Given the description of an element on the screen output the (x, y) to click on. 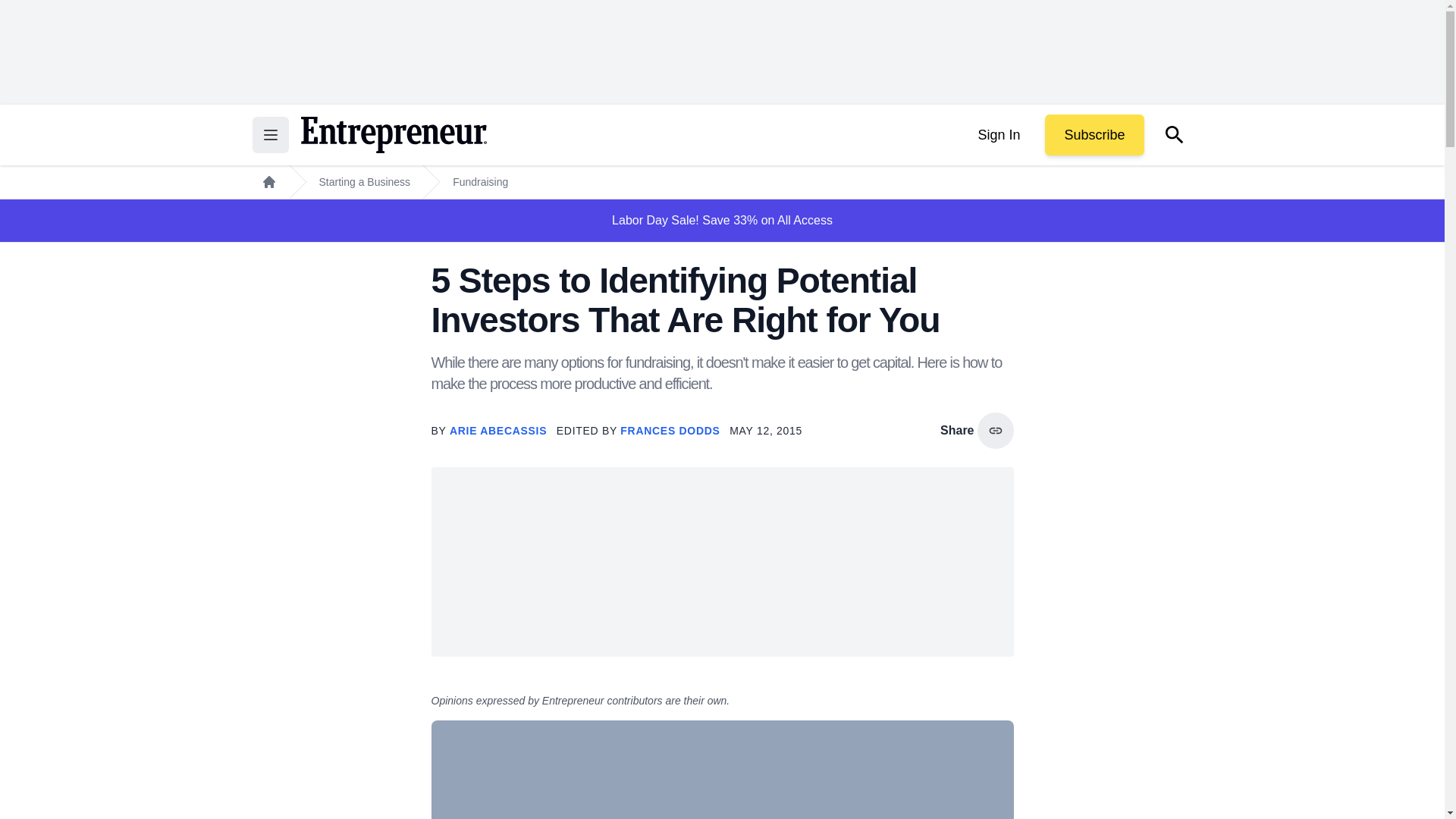
Sign In (998, 134)
Return to the home page (392, 135)
copy (994, 430)
Subscribe (1093, 134)
